Given the description of an element on the screen output the (x, y) to click on. 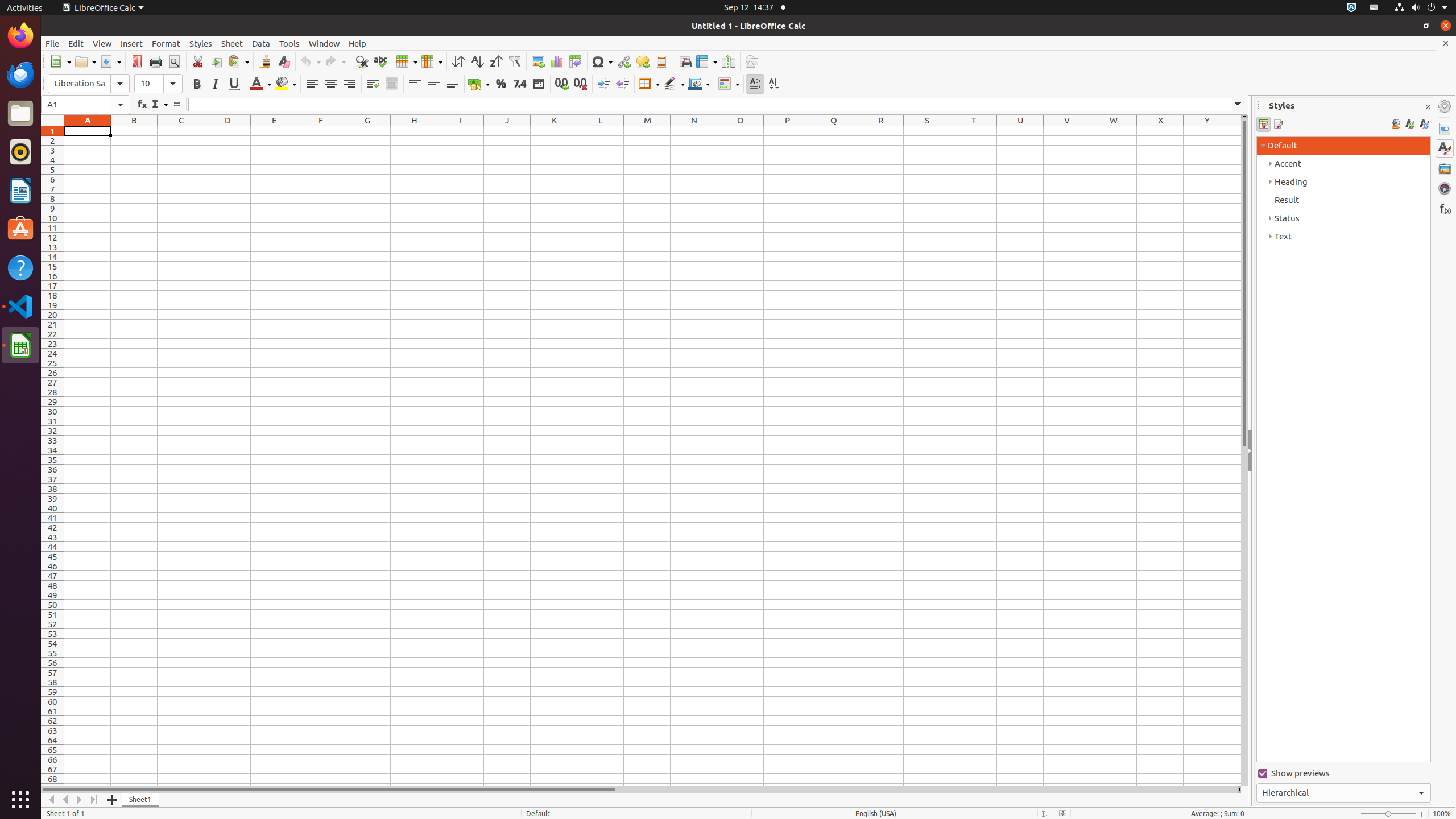
Align Left Element type: push-button (311, 83)
Vertical scroll bar Element type: scroll-bar (1244, 451)
Help Element type: menu (357, 43)
Decrease Element type: push-button (622, 83)
Number Element type: push-button (519, 83)
